Given the description of an element on the screen output the (x, y) to click on. 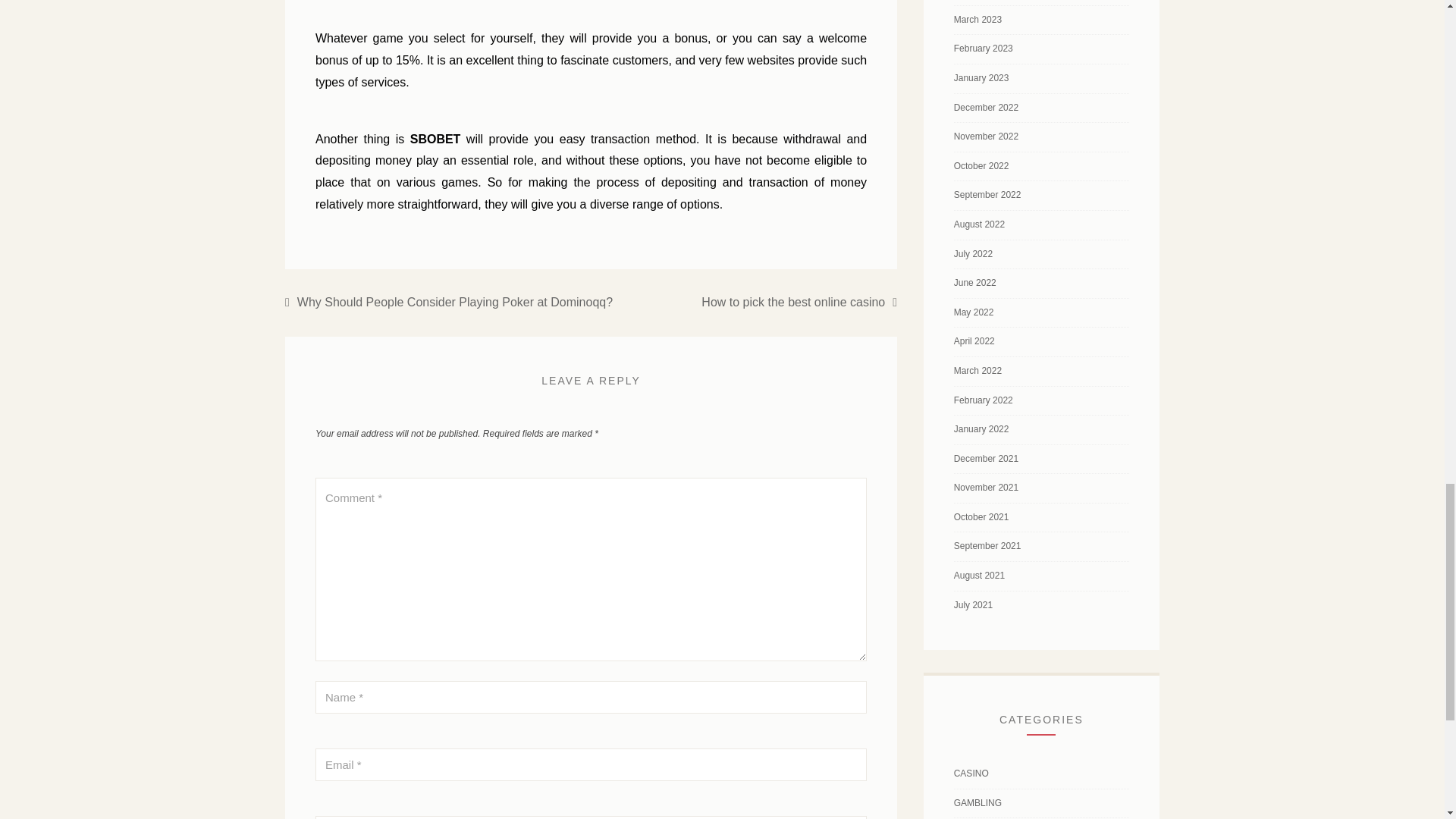
SBOBET (435, 138)
Why Should People Consider Playing Poker at Dominoqq? (448, 301)
How to pick the best online casino (798, 301)
